Given the description of an element on the screen output the (x, y) to click on. 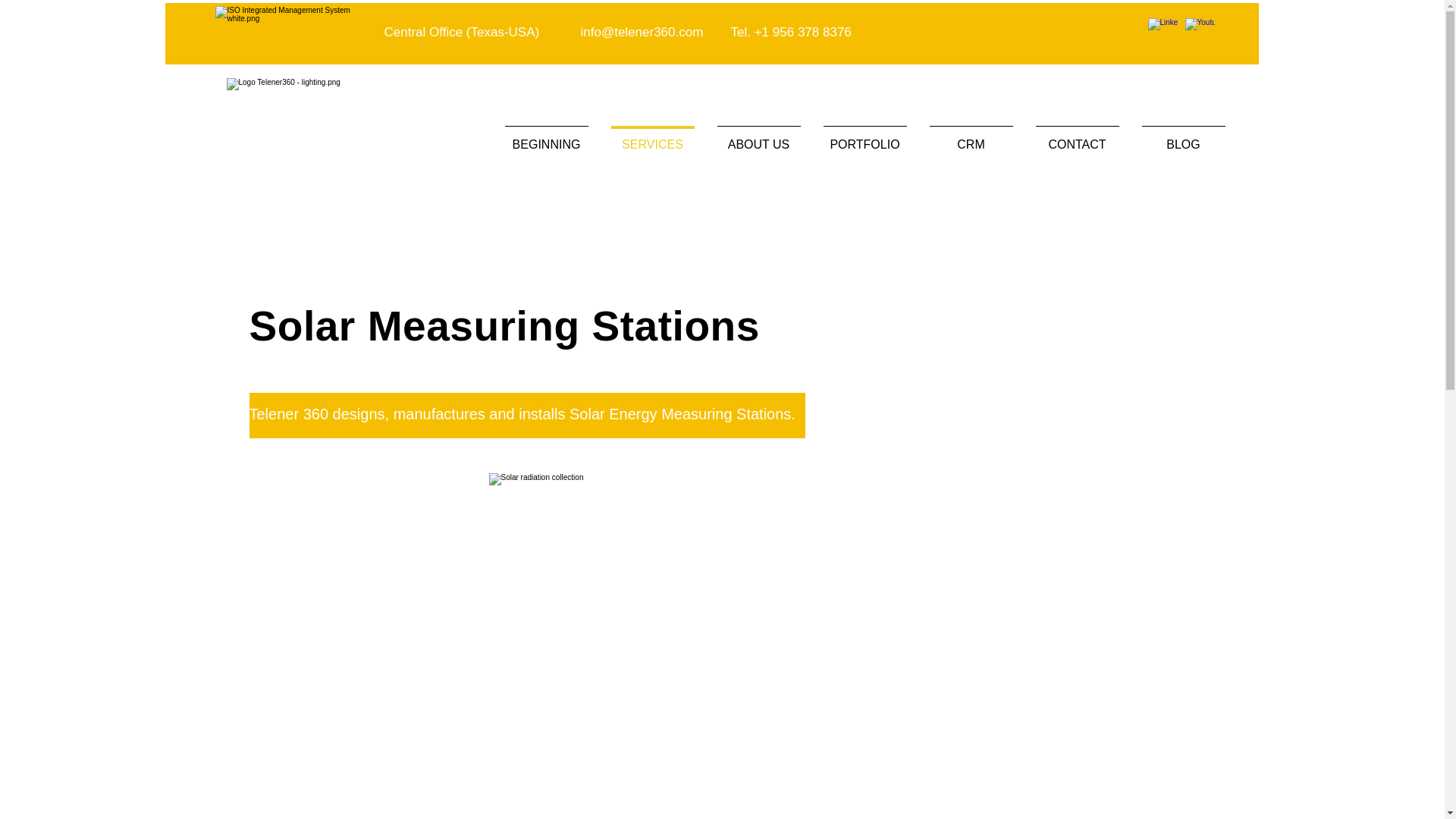
CONTACT (1076, 137)
SERVICES (651, 137)
PORTFOLIO (863, 137)
BLOG (1182, 137)
CRM (970, 137)
BEGINNING (545, 137)
Tel.  (742, 32)
ABOUT US (757, 137)
